Given the description of an element on the screen output the (x, y) to click on. 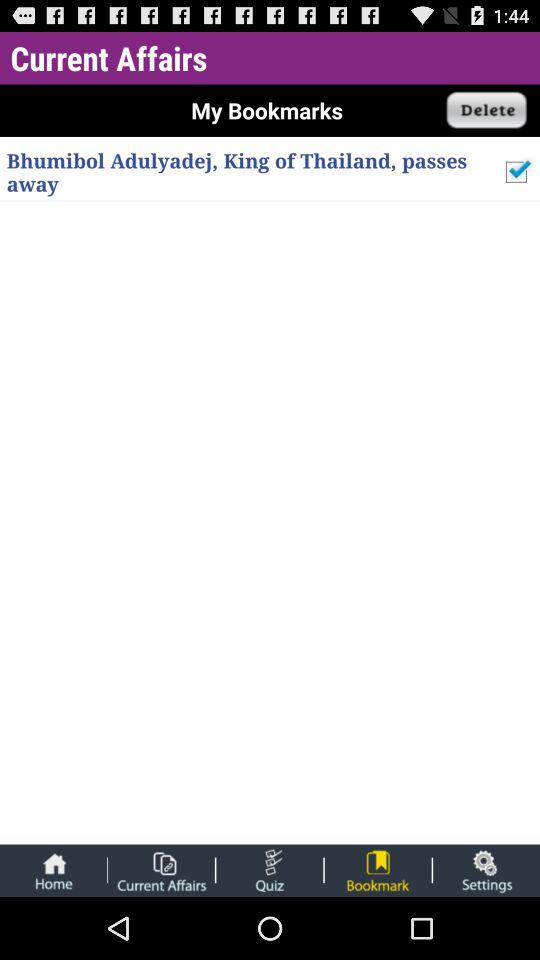
current affairs (161, 870)
